Given the description of an element on the screen output the (x, y) to click on. 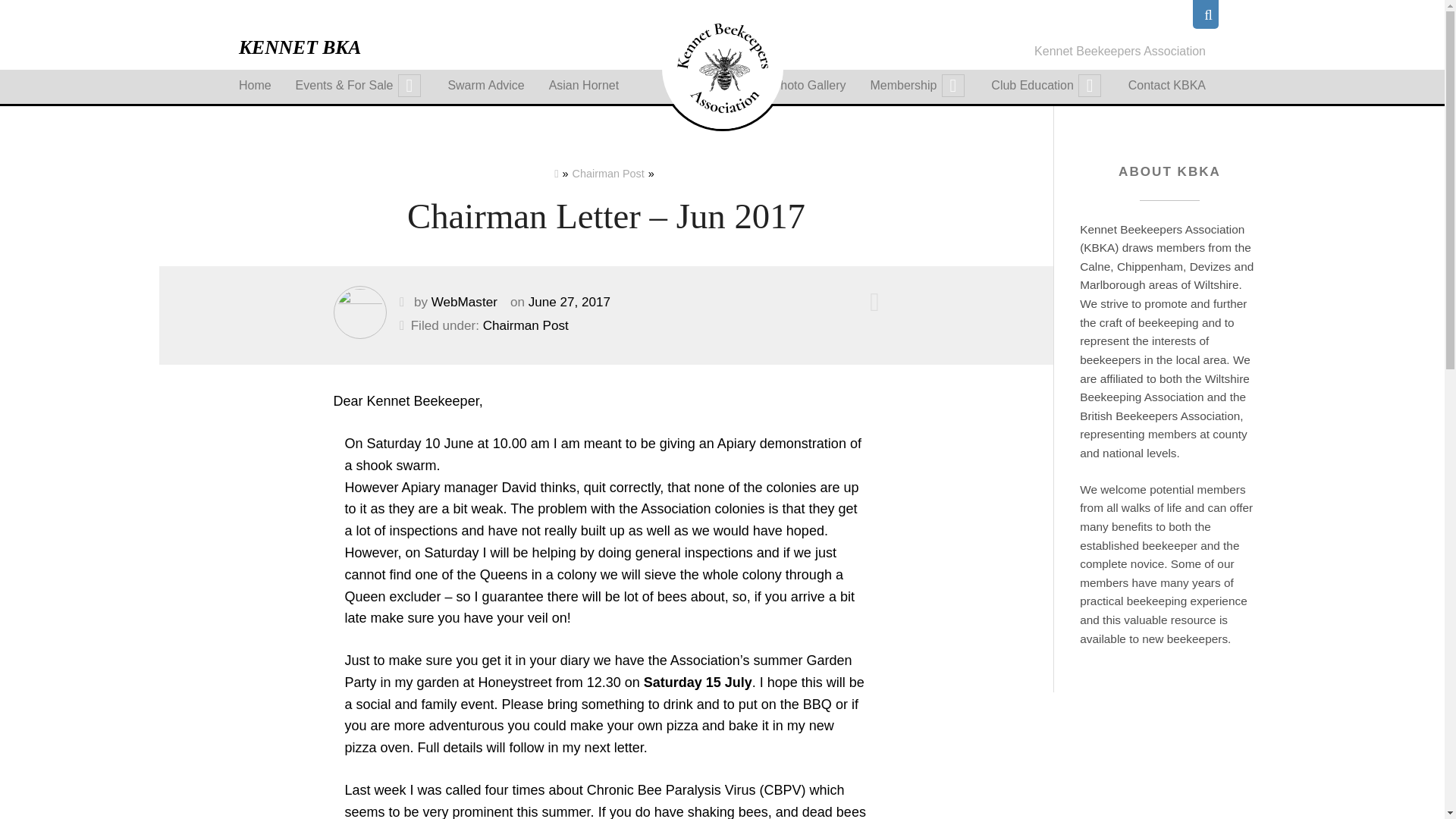
Asian Hornet (584, 85)
expand child menu (952, 85)
KENNET BKA (299, 47)
expand child menu (408, 85)
Photo Gallery (809, 85)
Swarm Advice (485, 85)
Club Education (1047, 85)
expand child menu (1089, 85)
Home (254, 85)
Contact KBKA (1166, 85)
Membership (917, 85)
